Given the description of an element on the screen output the (x, y) to click on. 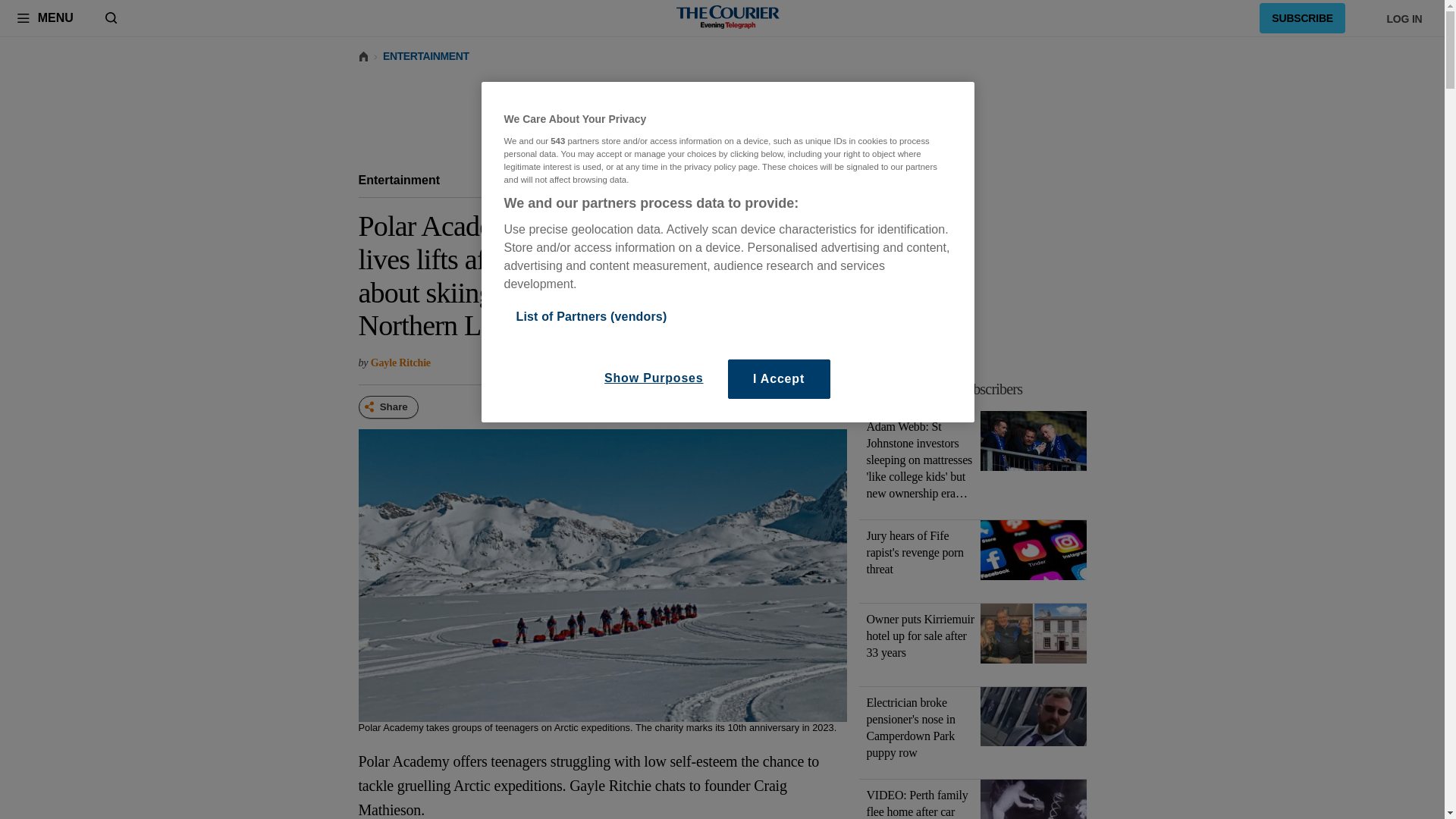
The Courier (727, 17)
Owner puts Kirriemuir hotel up for sale after 33 years (1032, 636)
Jury hears of Fife rapist's revenge porn threat (1032, 553)
